Given the description of an element on the screen output the (x, y) to click on. 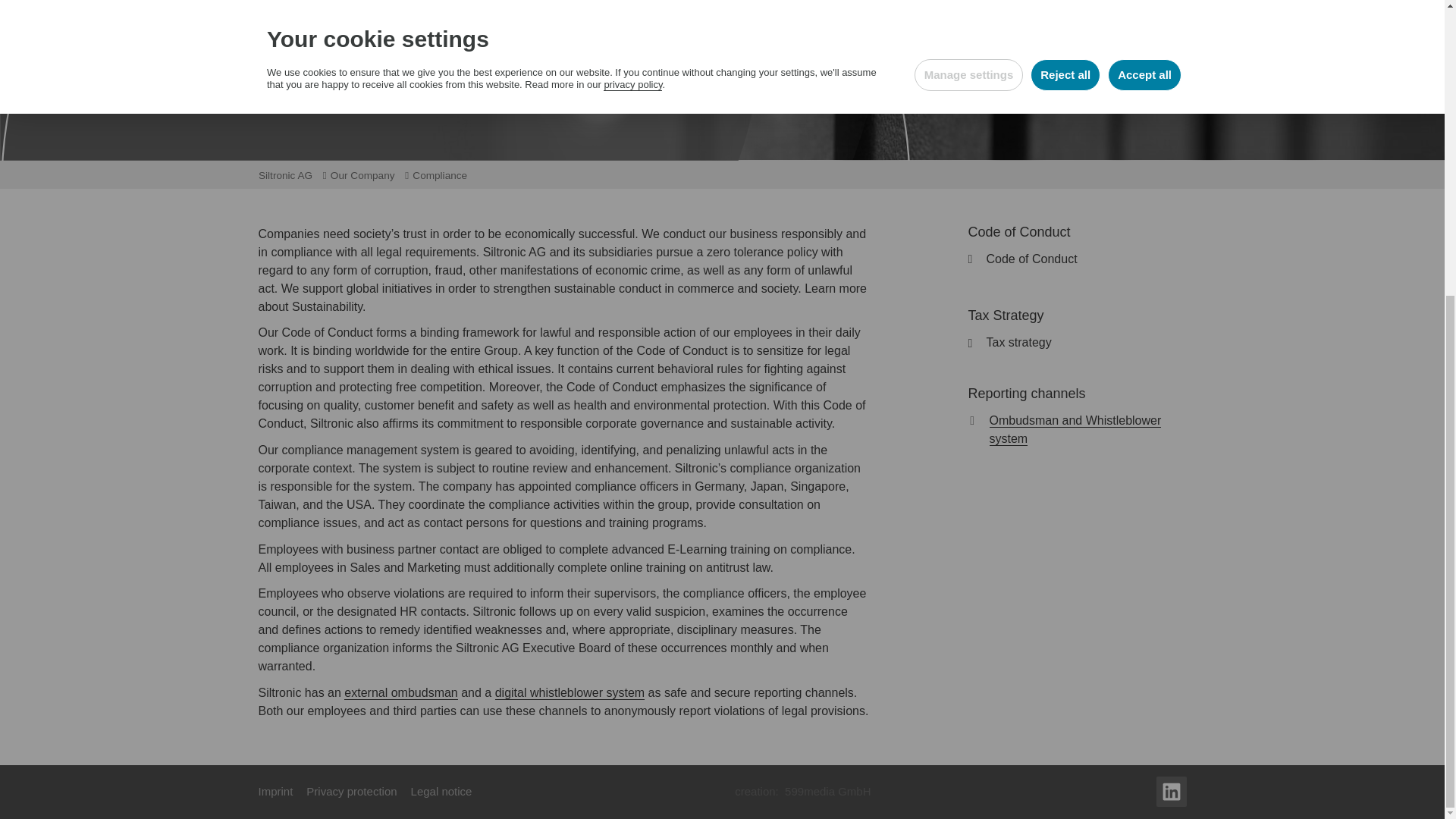
Our Company (368, 175)
LinkedIn (1171, 791)
Siltronic AG (289, 175)
